Given the description of an element on the screen output the (x, y) to click on. 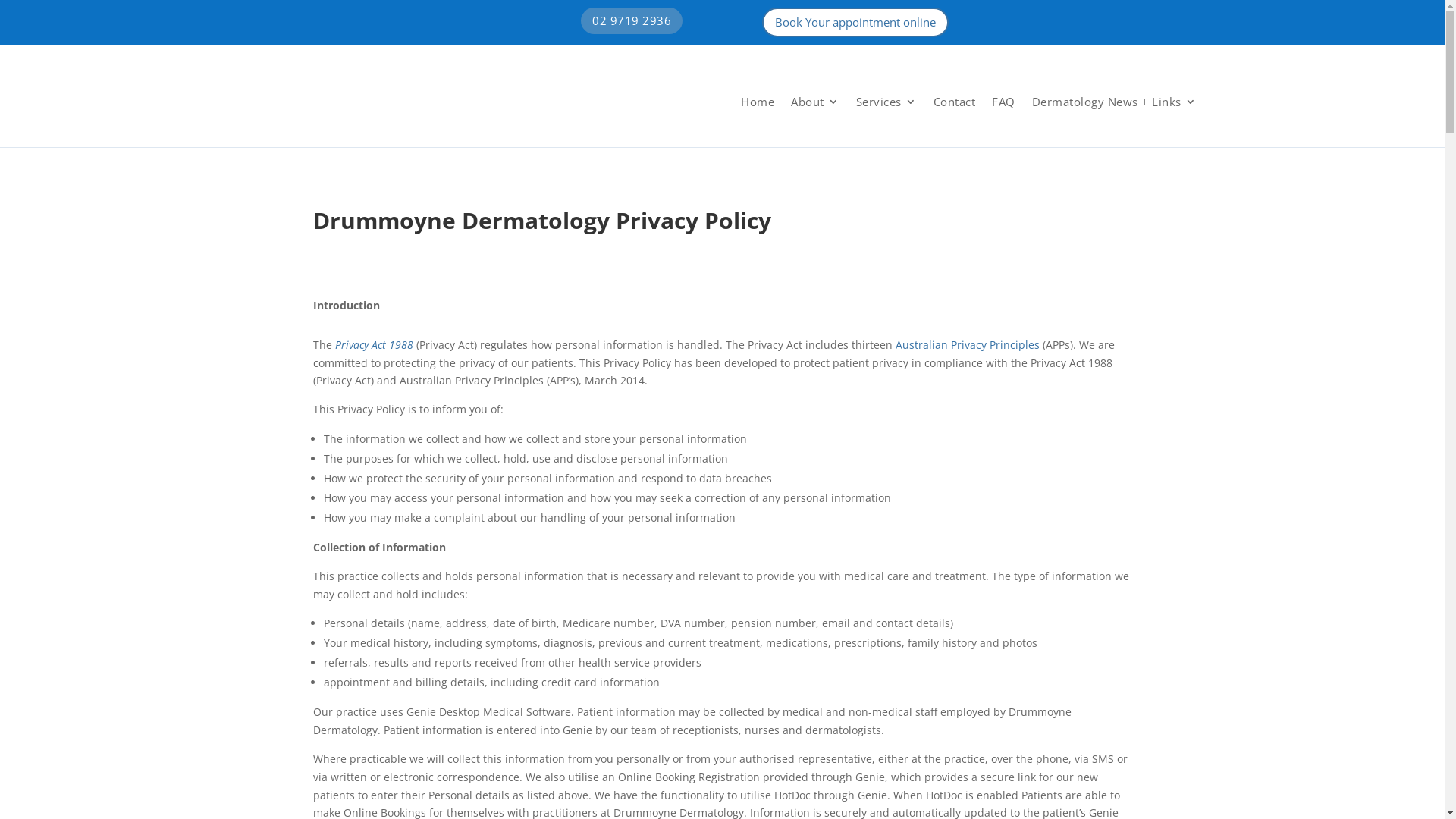
Australian Privacy Principles Element type: text (966, 344)
FAQ Element type: text (1003, 101)
Book Your appointment online Element type: text (855, 22)
Contact Element type: text (953, 101)
02 9719 2936 Element type: text (631, 20)
Privacy Act 1988 Element type: text (374, 344)
Dermatology News + Links Element type: text (1113, 101)
Home Element type: text (757, 101)
About Element type: text (814, 101)
Services Element type: text (885, 101)
